Given the description of an element on the screen output the (x, y) to click on. 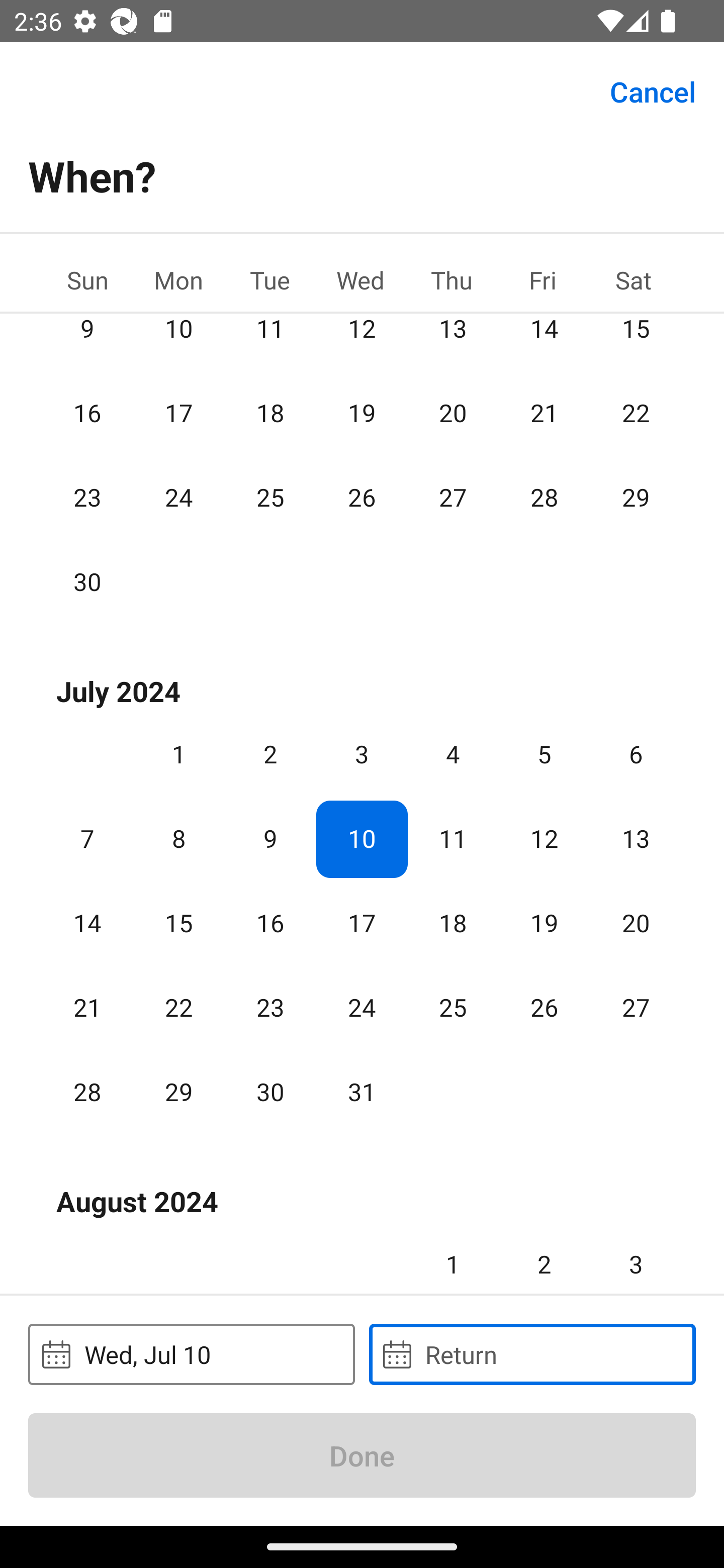
Cancel (652, 90)
Wed, Jul 10 (191, 1353)
Return (532, 1353)
Done (361, 1454)
